Given the description of an element on the screen output the (x, y) to click on. 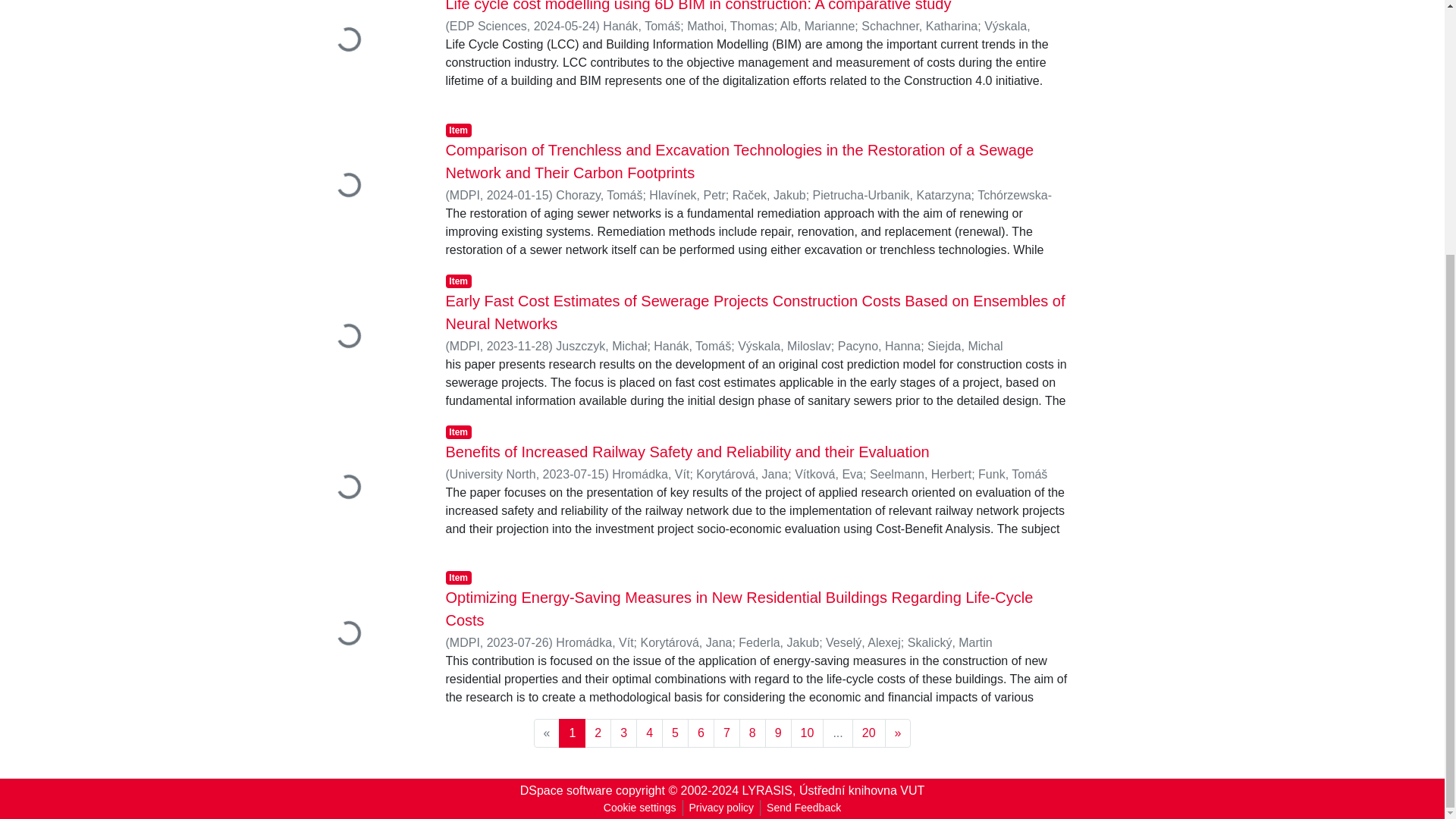
Loading... (362, 634)
Loading... (362, 489)
Loading... (362, 54)
Loading... (362, 338)
Loading... (362, 187)
